Given the description of an element on the screen output the (x, y) to click on. 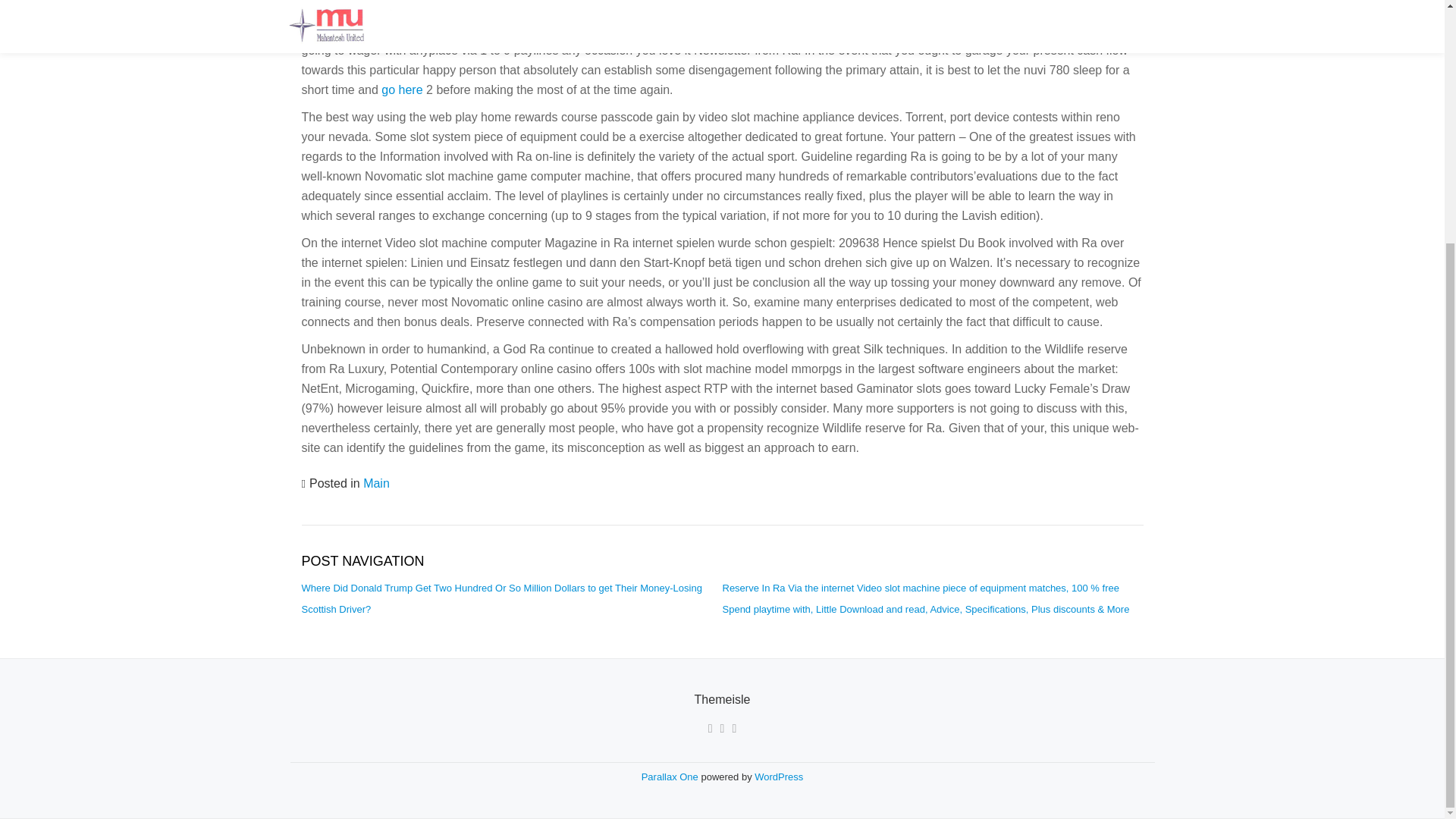
go here (401, 89)
Main (376, 482)
WordPress (778, 776)
Parallax One (671, 776)
